Given the description of an element on the screen output the (x, y) to click on. 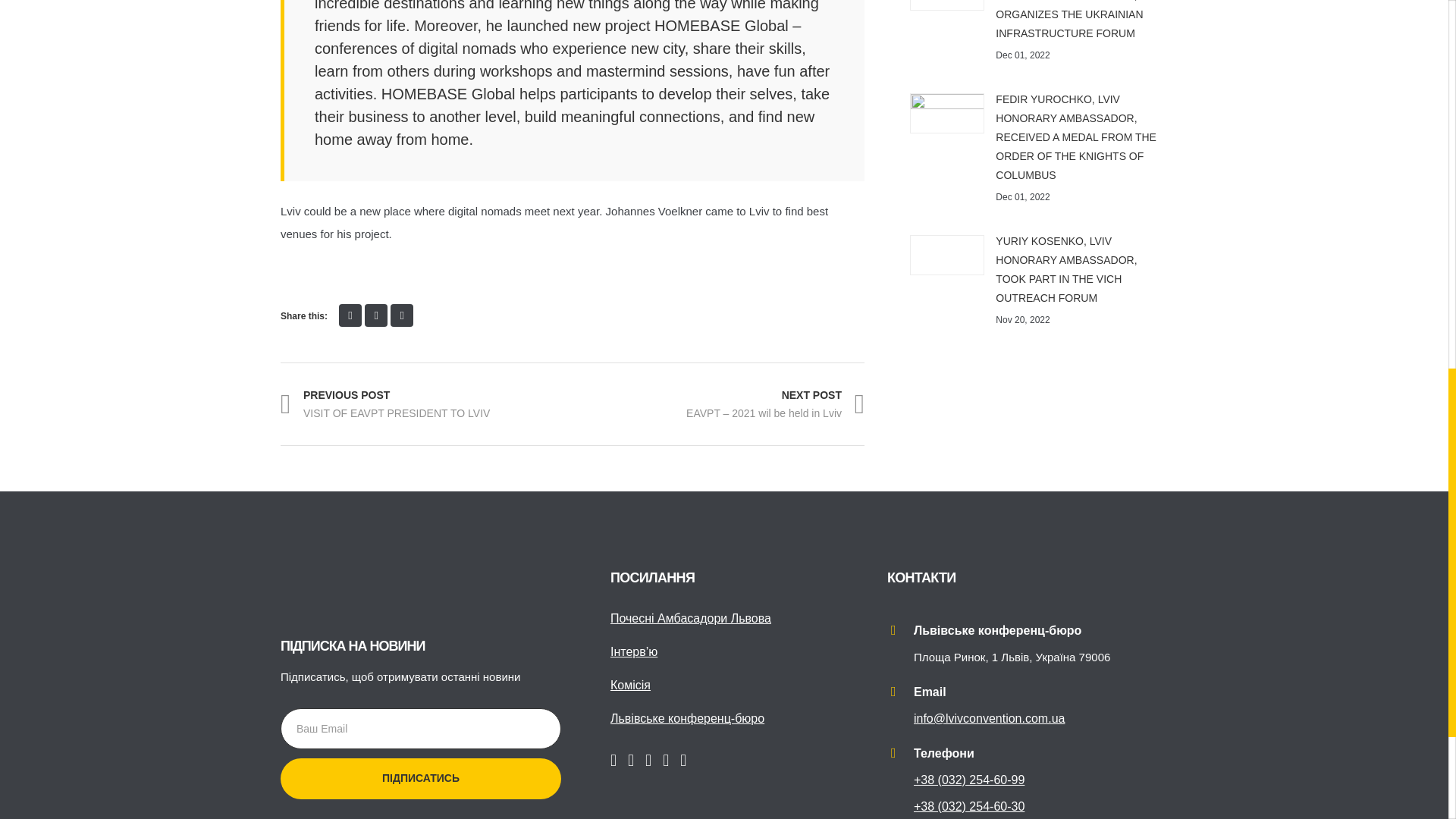
Share on LinkedIn (401, 314)
Share on facebook (350, 314)
Share on Twitter (376, 314)
